Given the description of an element on the screen output the (x, y) to click on. 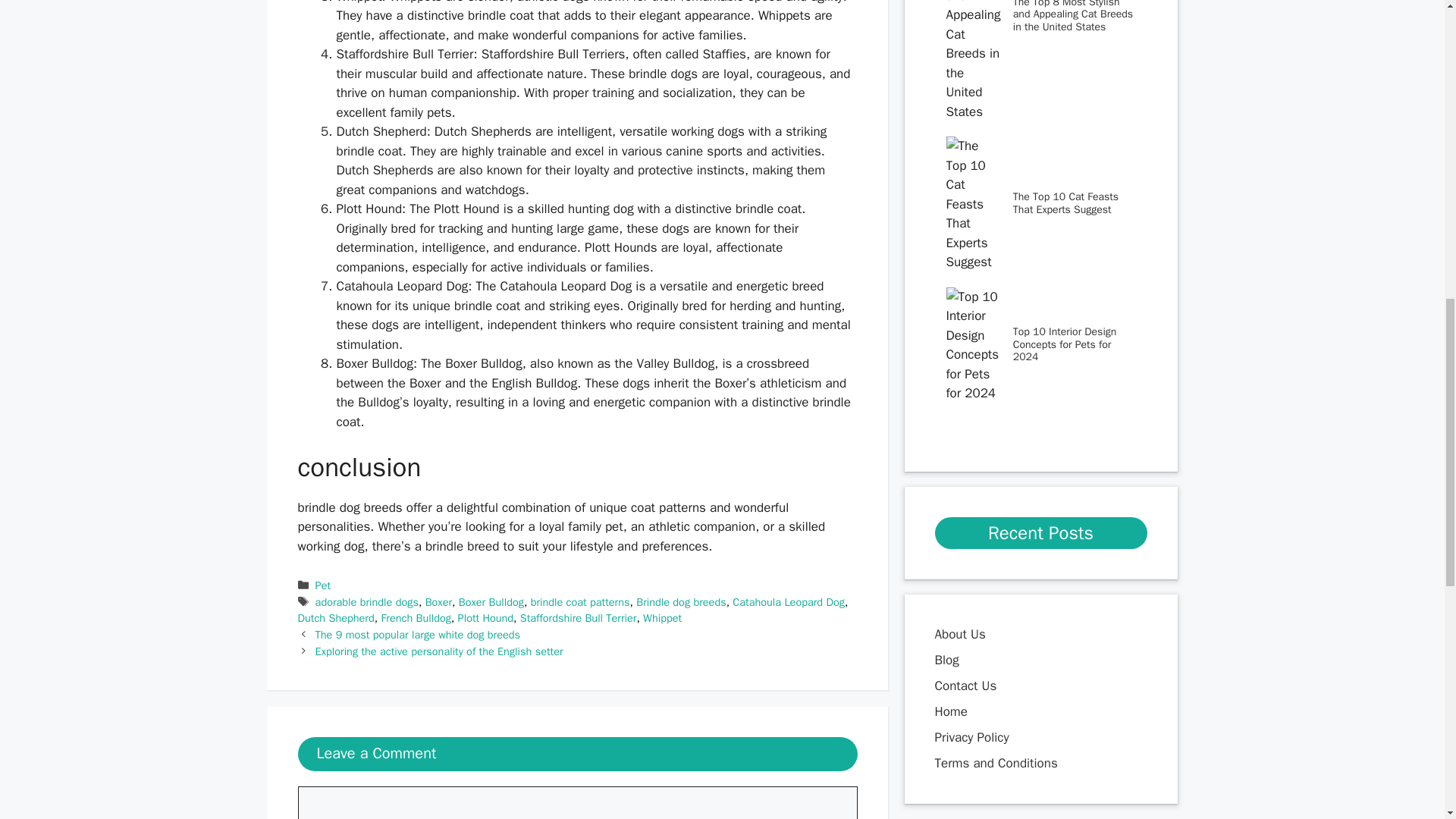
The 9 most popular large white dog breeds (417, 634)
Privacy Policy (971, 737)
Boxer Bulldog (491, 602)
Brindle dog breeds (681, 602)
Contact Us (964, 685)
brindle coat patterns (580, 602)
Blog (946, 659)
Whippet (662, 617)
Pet (322, 585)
Top 10 Interior Design Concepts for Pets for 2024 (1064, 344)
Home  (952, 711)
About Us (959, 634)
Boxer (438, 602)
Plott Hound (485, 617)
